Given the description of an element on the screen output the (x, y) to click on. 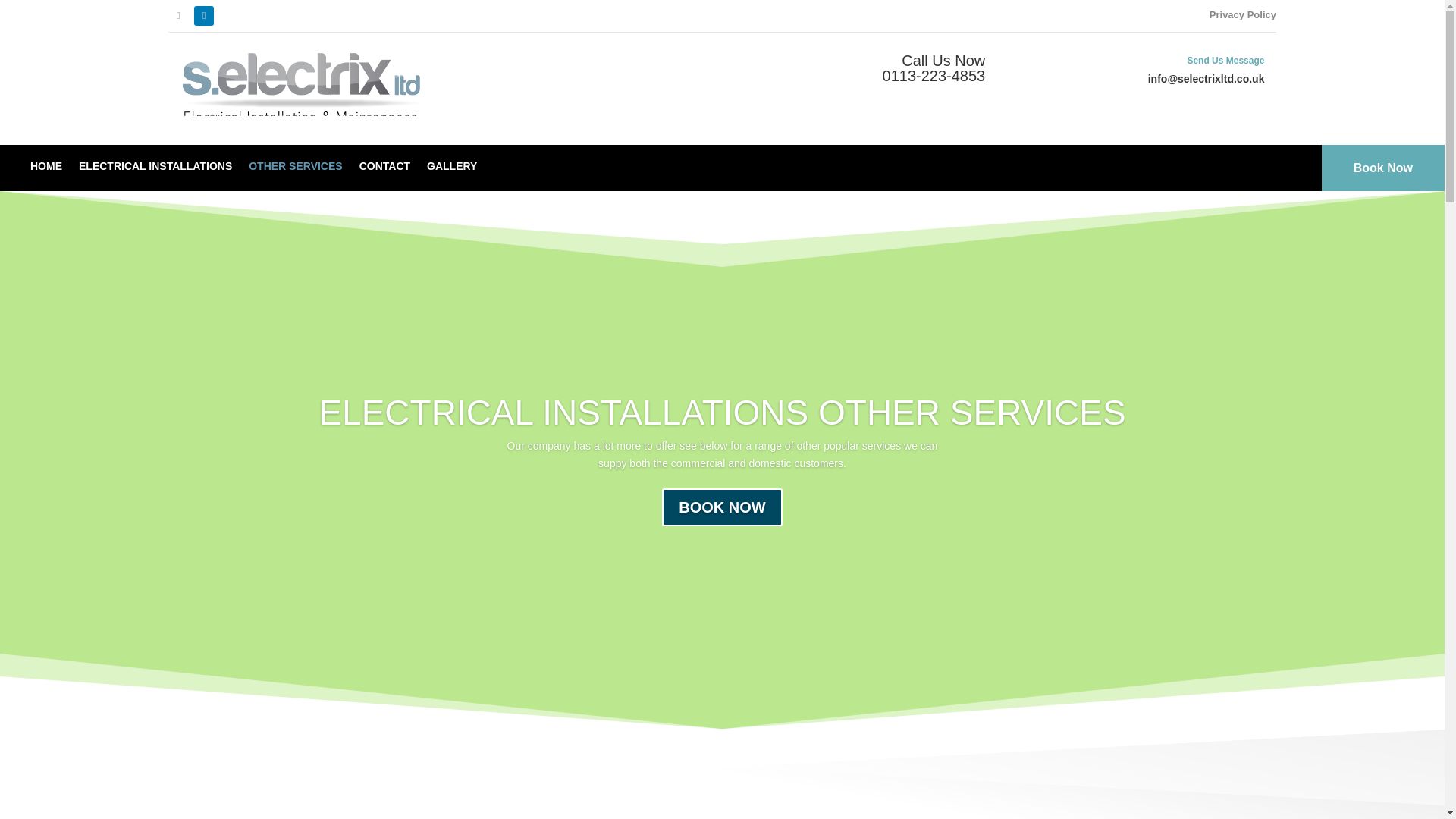
HOME (46, 169)
0113-223-4853 (933, 75)
Follow on Instagram (177, 15)
CONTACT (384, 169)
Privacy Policy (1242, 17)
GALLERY (451, 169)
OTHER SERVICES (295, 169)
ELECTRICAL INSTALLATIONS (154, 169)
Follow on LinkedIn (203, 15)
Selectrix-Ltd-Leeds (303, 88)
